Given the description of an element on the screen output the (x, y) to click on. 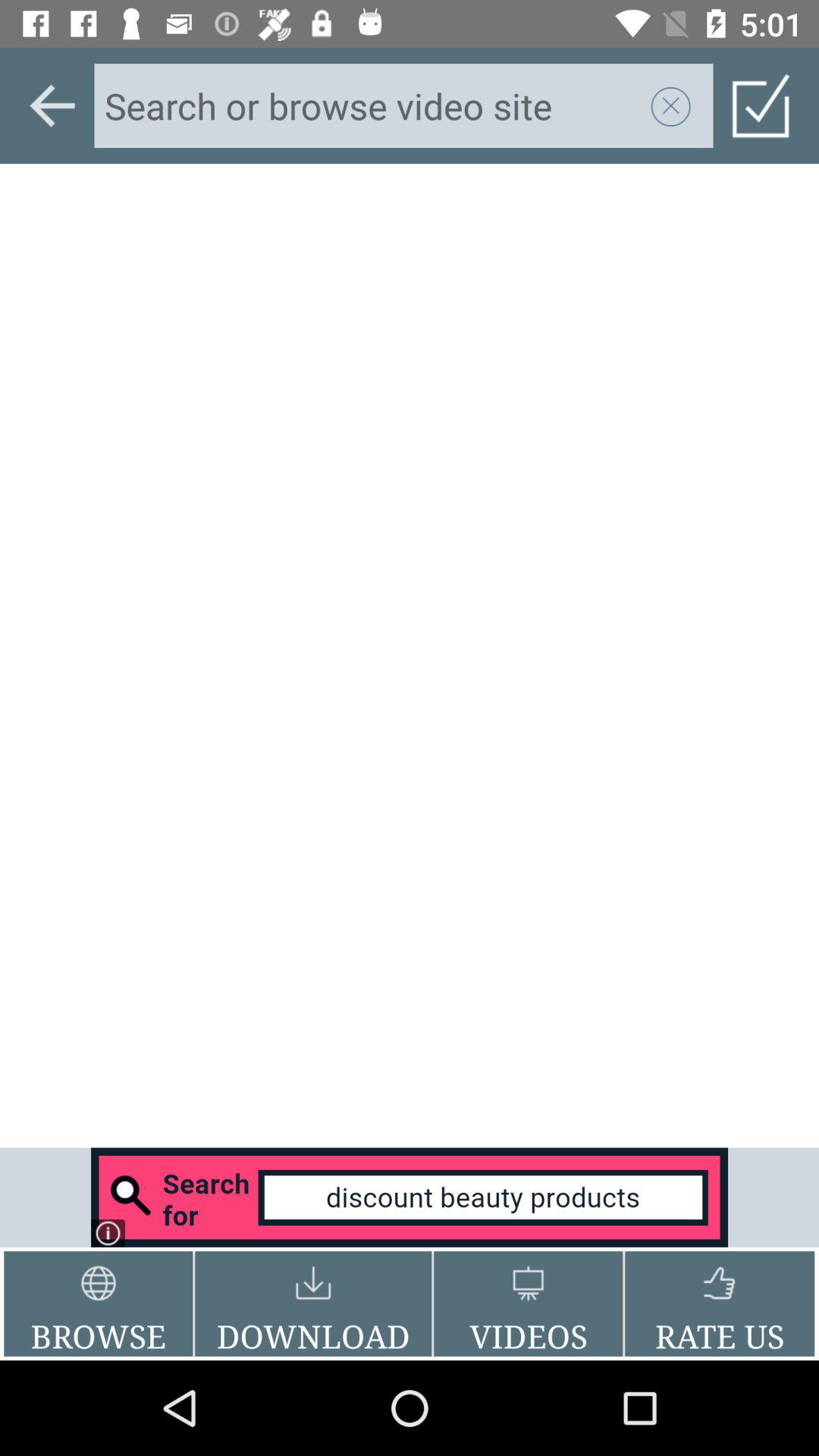
visit advertiser (409, 1197)
